Given the description of an element on the screen output the (x, y) to click on. 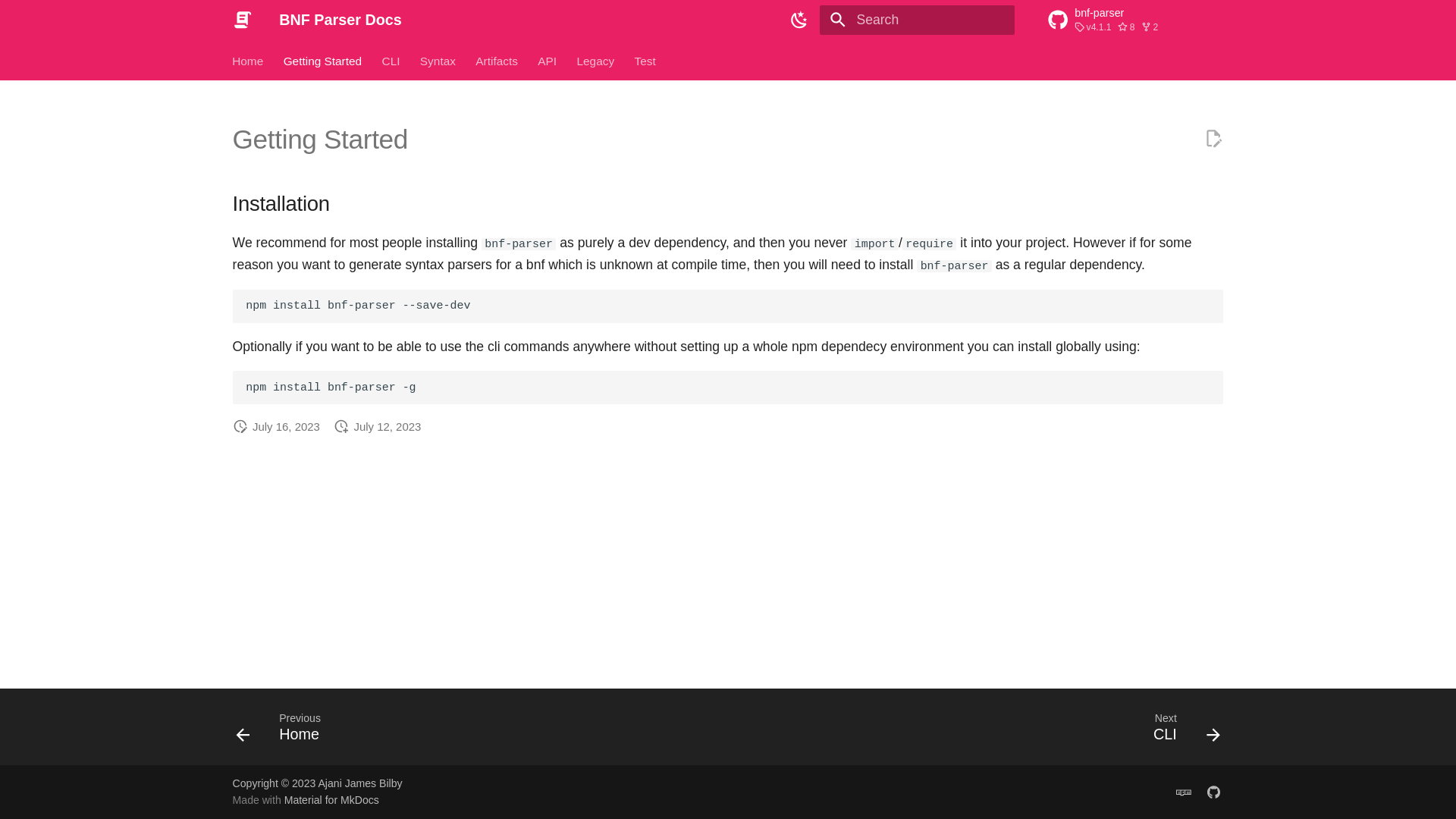
Getting Started (322, 60)
Created (341, 426)
API (547, 60)
Artifacts (497, 60)
Test (645, 60)
Last update (239, 426)
Switch to dark mode (799, 19)
BNF Parser Docs (242, 19)
Go to repository (1135, 20)
CLI (283, 731)
Edit this page (390, 60)
github.com (1213, 138)
bnf-parser (1213, 791)
Legacy (1135, 20)
